Given the description of an element on the screen output the (x, y) to click on. 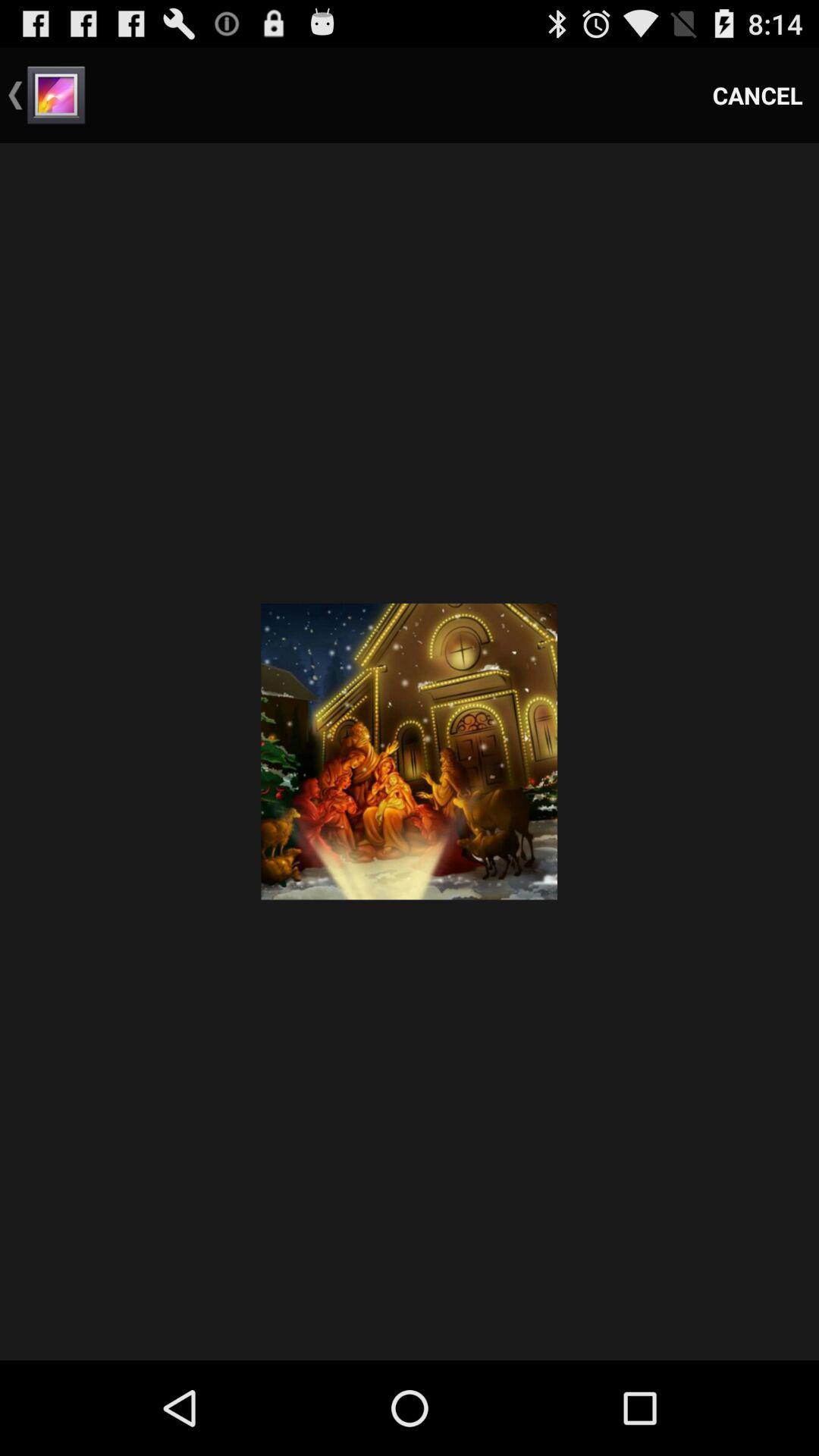
turn on the icon at the top right corner (757, 95)
